Given the description of an element on the screen output the (x, y) to click on. 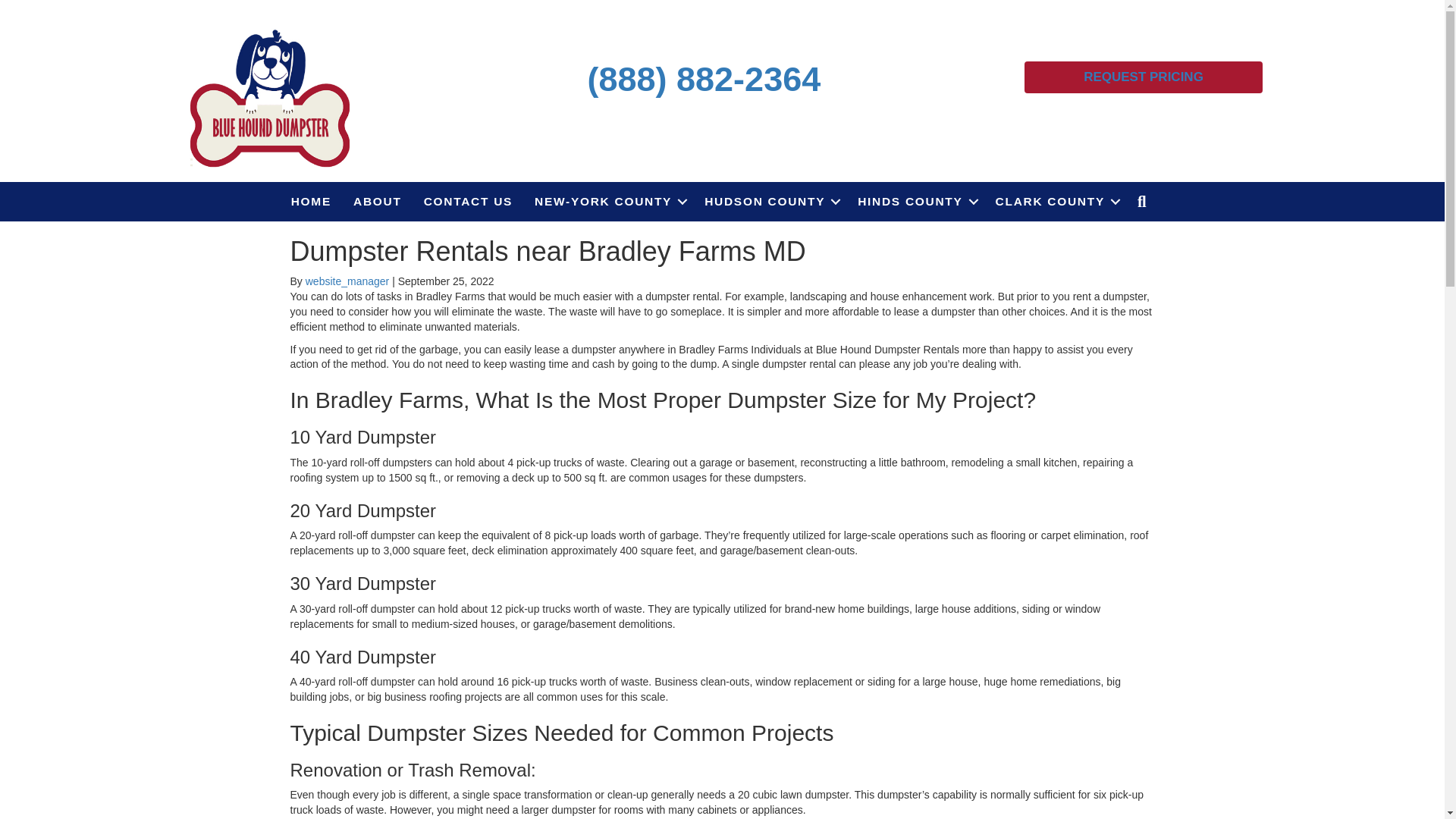
HUDSON COUNTY (769, 201)
Skip to content (34, 6)
ABOUT (377, 201)
CLARK COUNTY (1055, 201)
NEW-YORK COUNTY (608, 201)
HOME (311, 201)
HINDS COUNTY (915, 201)
CONTACT US (467, 201)
REQUEST PRICING (1144, 77)
bluehounddumpster (269, 96)
